Given the description of an element on the screen output the (x, y) to click on. 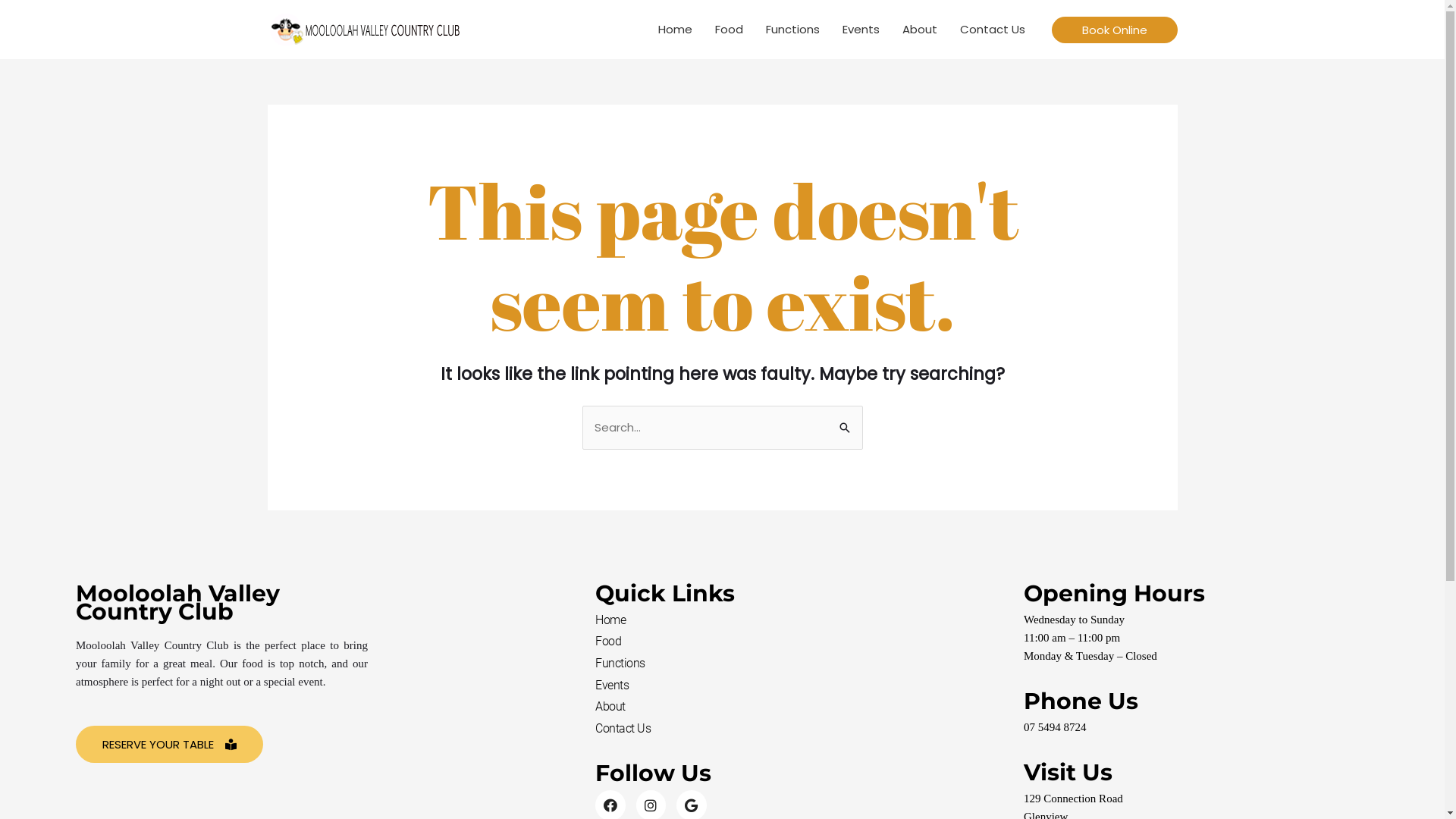
Events Element type: text (861, 29)
Search Element type: text (845, 420)
Contact Us Element type: text (779, 728)
Events Element type: text (779, 685)
Home Element type: text (674, 29)
Book Online Element type: text (1113, 29)
Functions Element type: text (791, 29)
Functions Element type: text (779, 663)
Home Element type: text (779, 620)
About Element type: text (779, 706)
Contact Us Element type: text (991, 29)
RESERVE YOUR TABLE Element type: text (169, 743)
About Element type: text (918, 29)
Food Element type: text (728, 29)
Food Element type: text (779, 641)
